Given the description of an element on the screen output the (x, y) to click on. 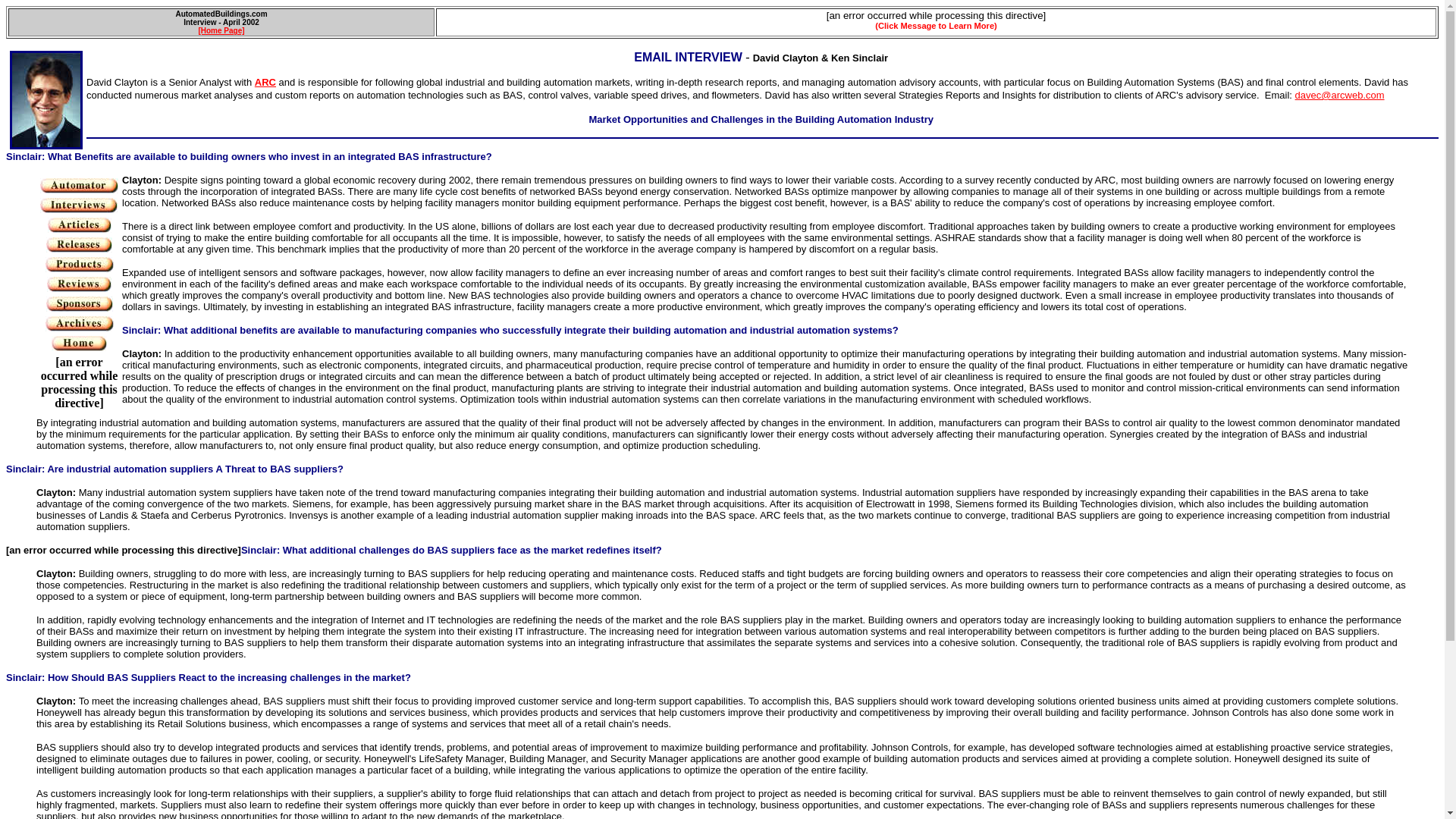
ARC (265, 81)
